Given the description of an element on the screen output the (x, y) to click on. 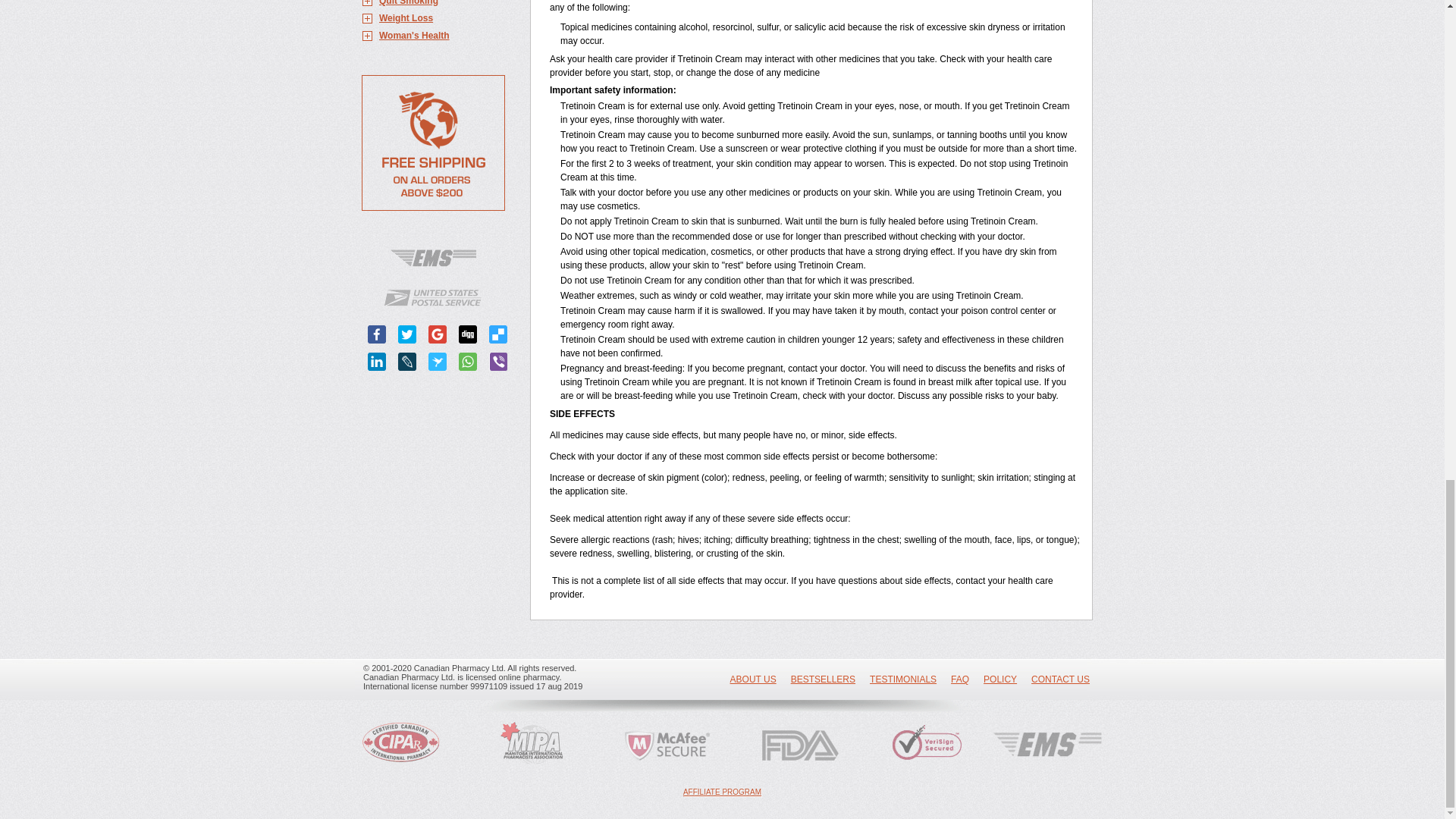
Surfingbird (437, 361)
Digg (467, 334)
Twitter (406, 334)
Livejournal (406, 361)
Viber (497, 361)
Facebook (376, 334)
LinkedIn (376, 361)
Whatsapp (467, 361)
Delicious (497, 334)
